Given the description of an element on the screen output the (x, y) to click on. 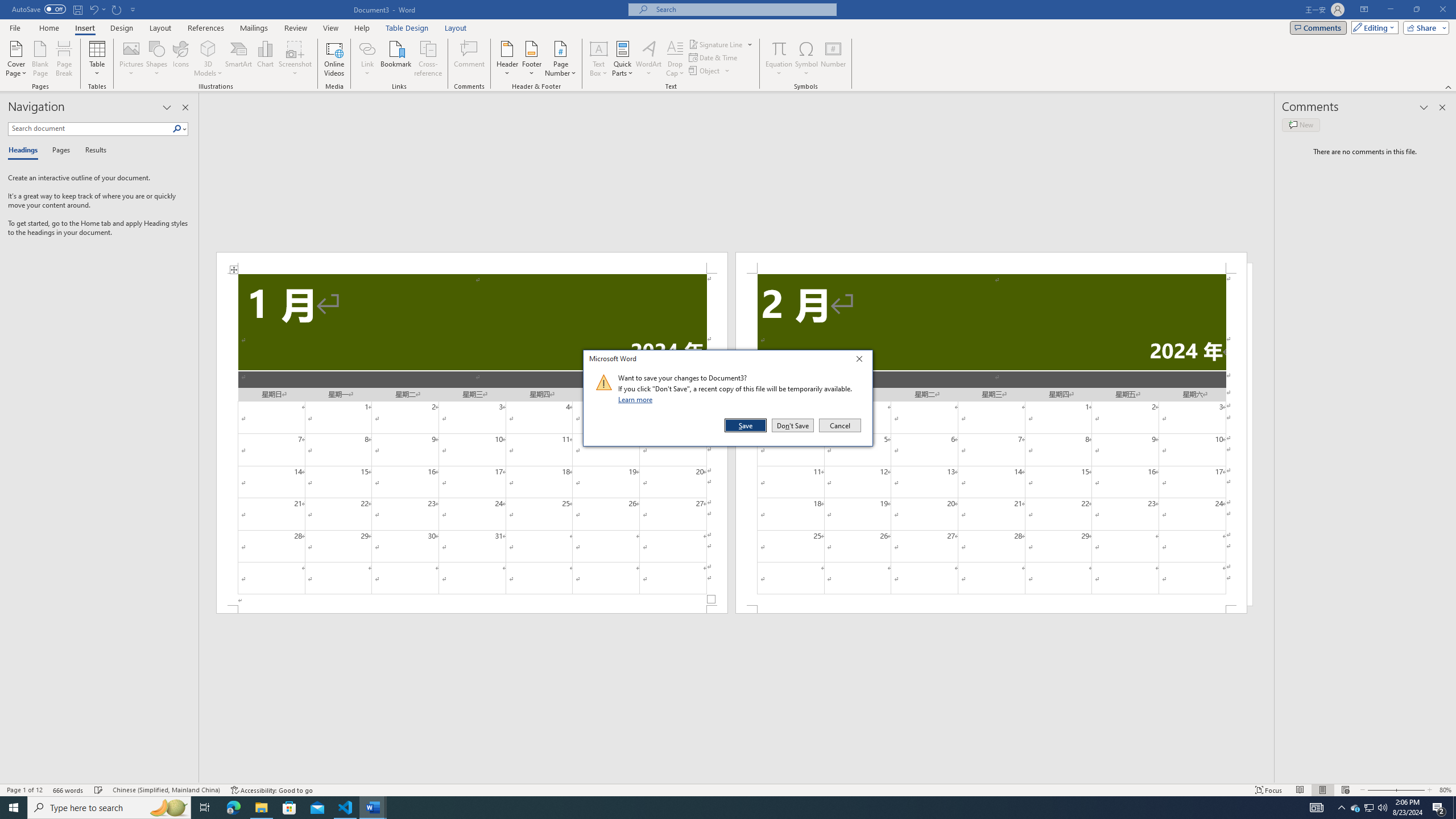
Microsoft Edge (233, 807)
User Promoted Notification Area (1368, 807)
Microsoft search (742, 9)
Focus  (1268, 790)
Minimize (1390, 9)
Table (97, 58)
Footer -Section 2- (991, 609)
Object... (709, 69)
3D Models (208, 48)
Undo Increase Indent (96, 9)
Link (367, 48)
Class: MsoCommandBar (728, 789)
Print Layout (1322, 790)
